Given the description of an element on the screen output the (x, y) to click on. 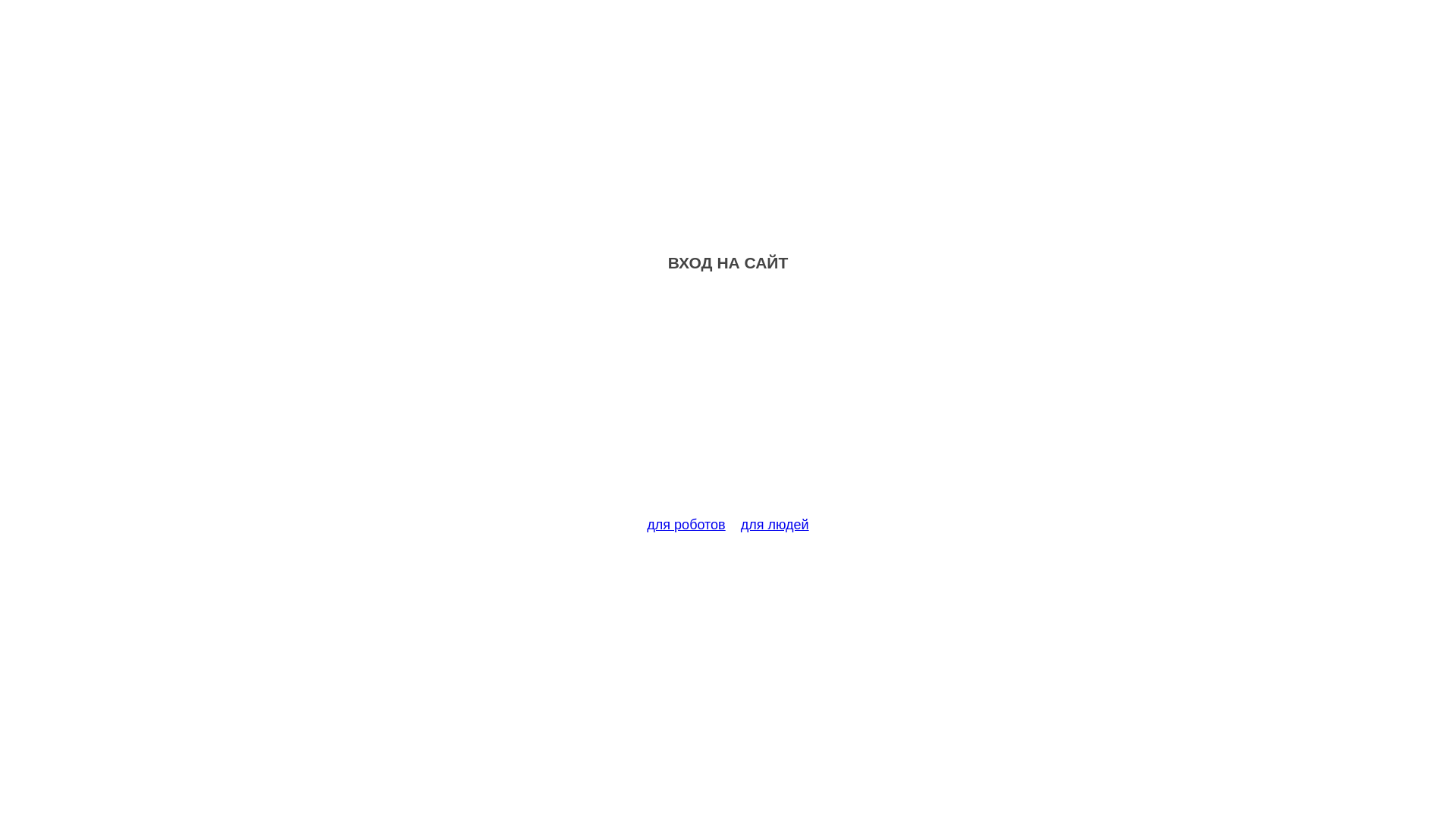
Advertisement Element type: hover (727, 403)
